Given the description of an element on the screen output the (x, y) to click on. 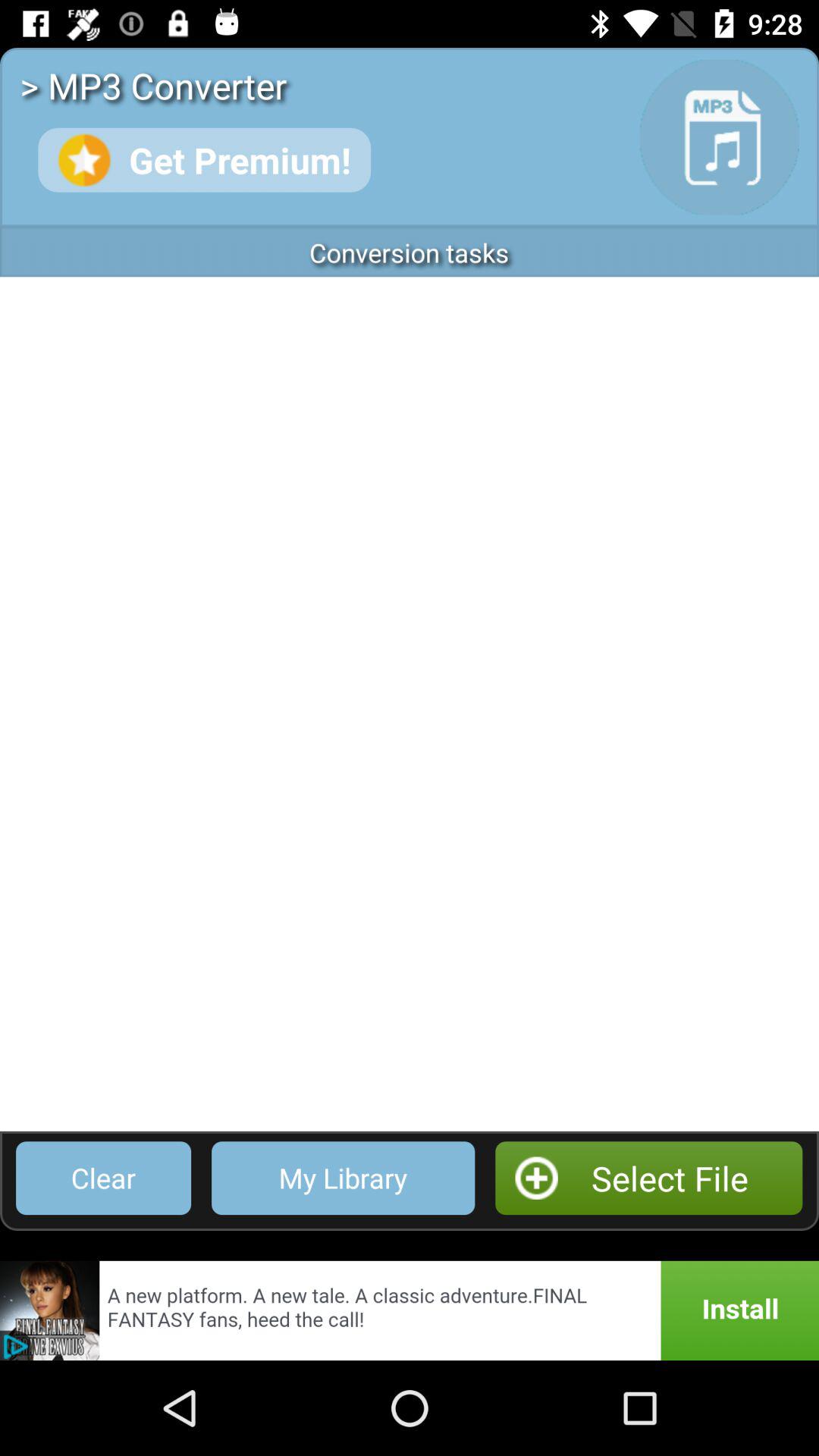
select app below the conversion tasks item (409, 703)
